Given the description of an element on the screen output the (x, y) to click on. 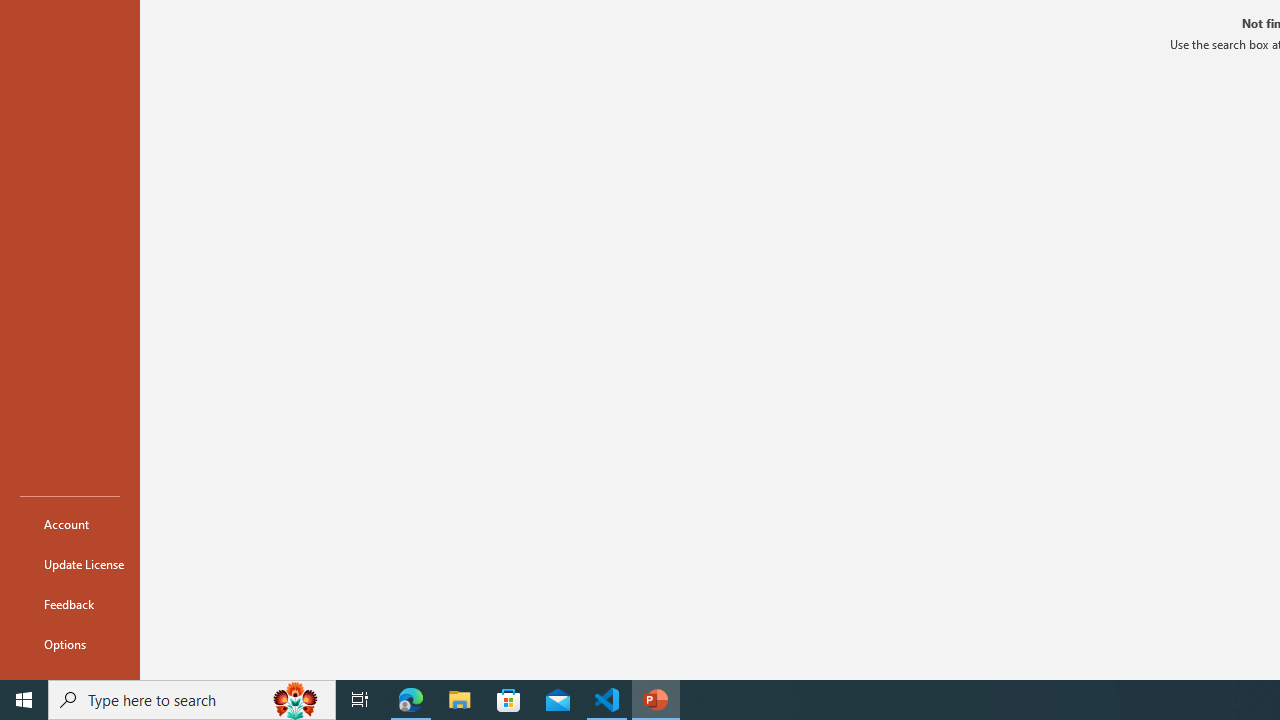
Options (69, 643)
Update License (69, 563)
Feedback (69, 603)
Account (69, 523)
